Given the description of an element on the screen output the (x, y) to click on. 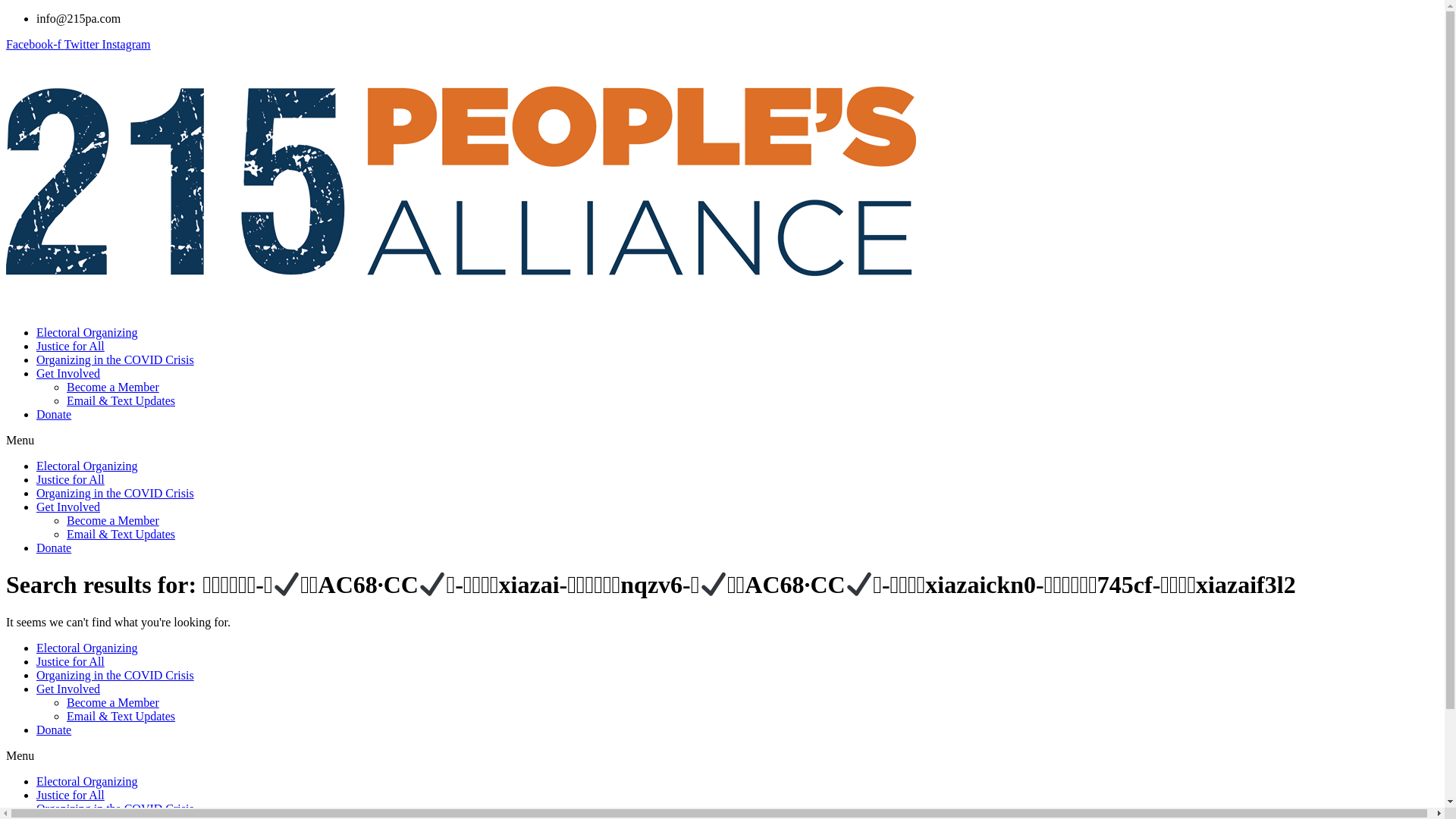
Electoral Organizing Element type: text (86, 647)
Organizing in the COVID Crisis Element type: text (115, 674)
Electoral Organizing Element type: text (86, 332)
Justice for All Element type: text (70, 794)
Donate Element type: text (53, 547)
Justice for All Element type: text (70, 661)
Get Involved Element type: text (68, 688)
Electoral Organizing Element type: text (86, 465)
Get Involved Element type: text (68, 373)
Electoral Organizing Element type: text (86, 781)
Become a Member Element type: text (112, 702)
Become a Member Element type: text (112, 386)
Email & Text Updates Element type: text (120, 533)
Email & Text Updates Element type: text (120, 715)
Get Involved Element type: text (68, 506)
Justice for All Element type: text (70, 345)
Instagram Element type: text (126, 43)
Justice for All Element type: text (70, 479)
Donate Element type: text (53, 729)
Email & Text Updates Element type: text (120, 400)
Facebook-f Element type: text (35, 43)
Organizing in the COVID Crisis Element type: text (115, 492)
Organizing in the COVID Crisis Element type: text (115, 808)
Become a Member Element type: text (112, 520)
Organizing in the COVID Crisis Element type: text (115, 359)
Donate Element type: text (53, 413)
Twitter Element type: text (83, 43)
